Given the description of an element on the screen output the (x, y) to click on. 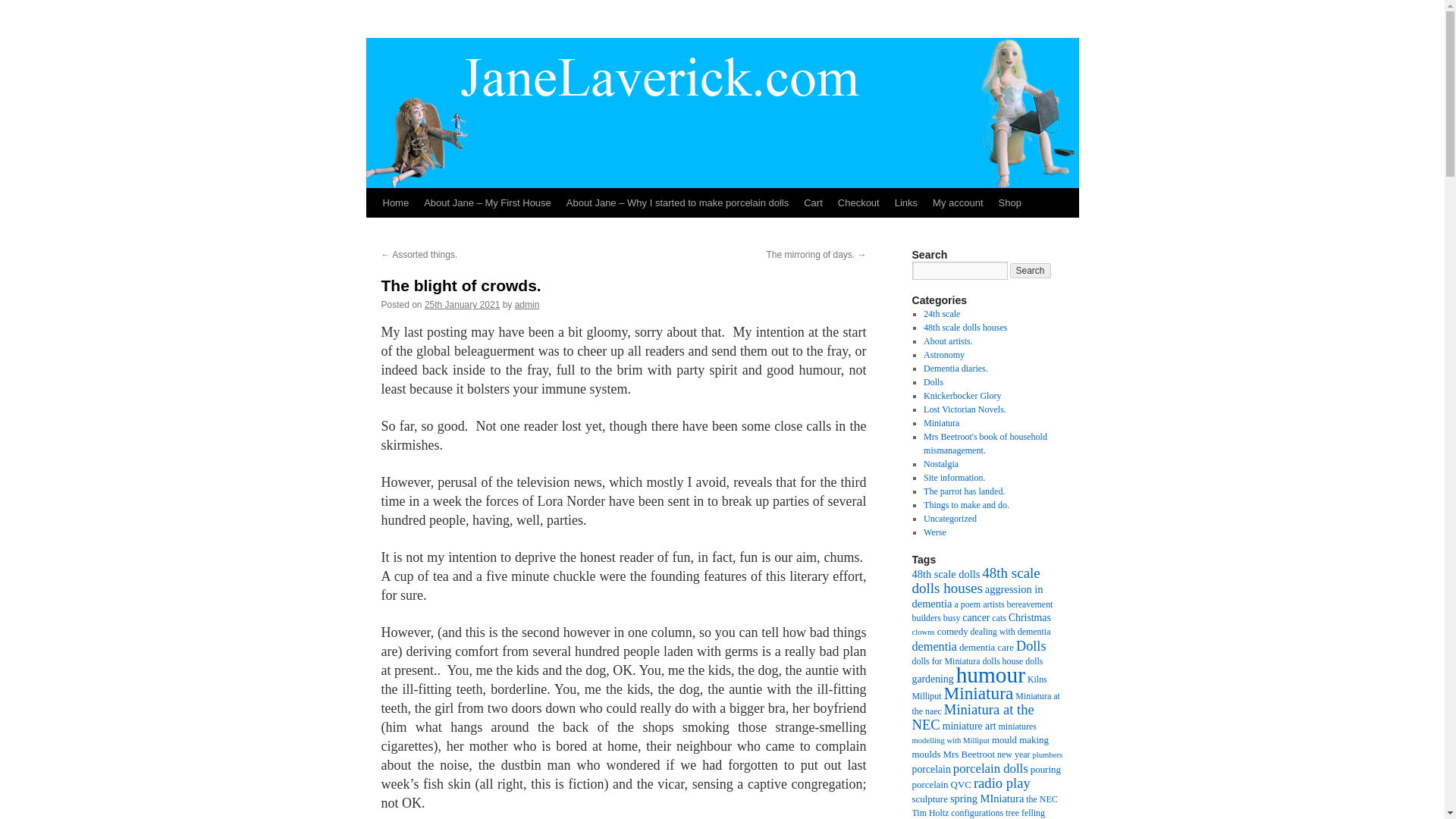
Uncategorized (949, 518)
Dolls (933, 381)
The parrot has landed. (963, 491)
Miniatura (941, 422)
About artists. (947, 340)
Search (1030, 270)
Astronomy (943, 354)
Nostalgia (940, 463)
Knickerbocker Glory (962, 395)
My account (957, 203)
Shop (1010, 203)
25th January 2021 (462, 304)
Mrs Beetroot's book of household mismanagement. (984, 443)
Dementia diaries. (955, 368)
View all posts by admin (527, 304)
